Given the description of an element on the screen output the (x, y) to click on. 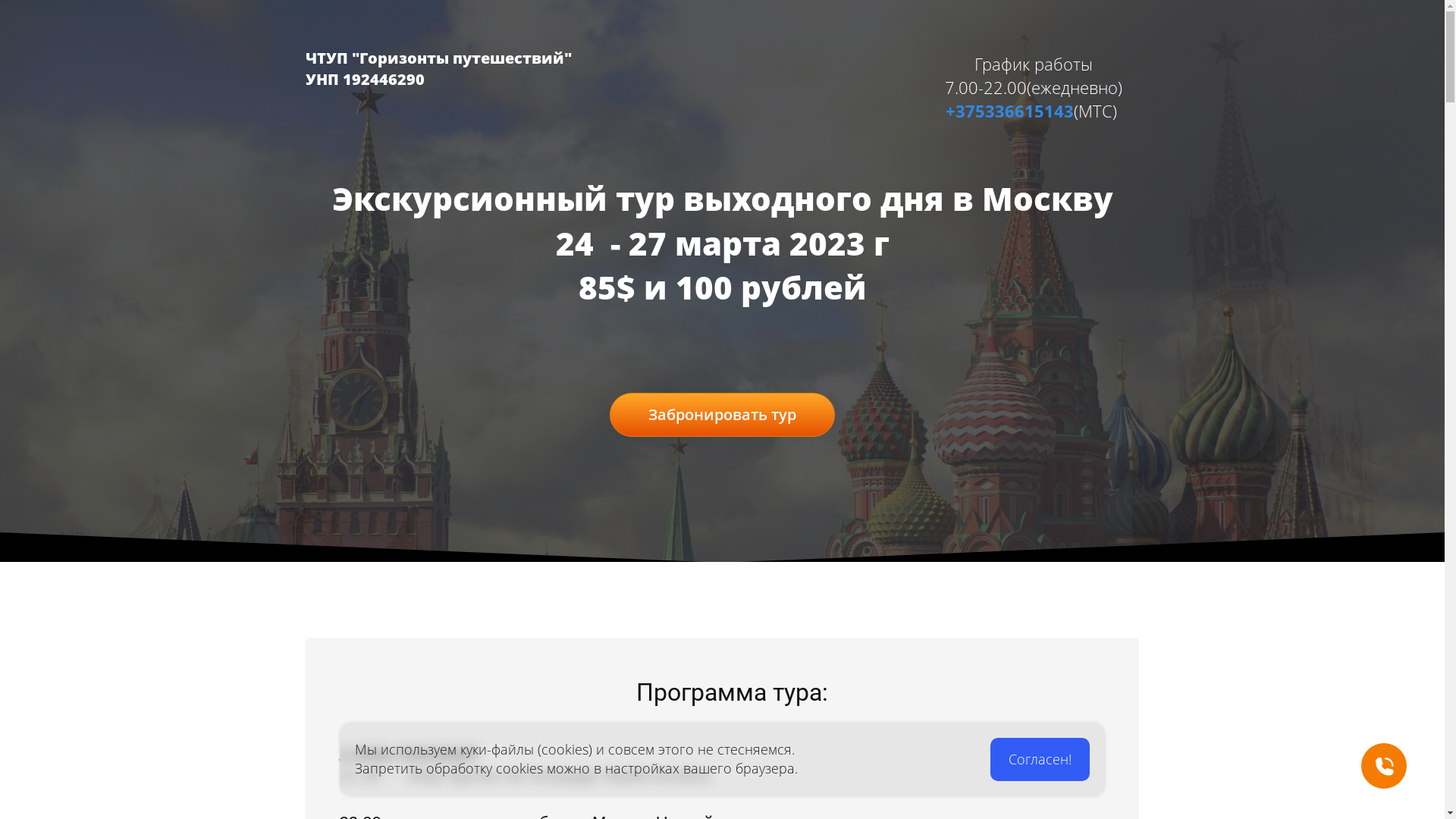
+375336615143 Element type: text (1009, 110)
